Given the description of an element on the screen output the (x, y) to click on. 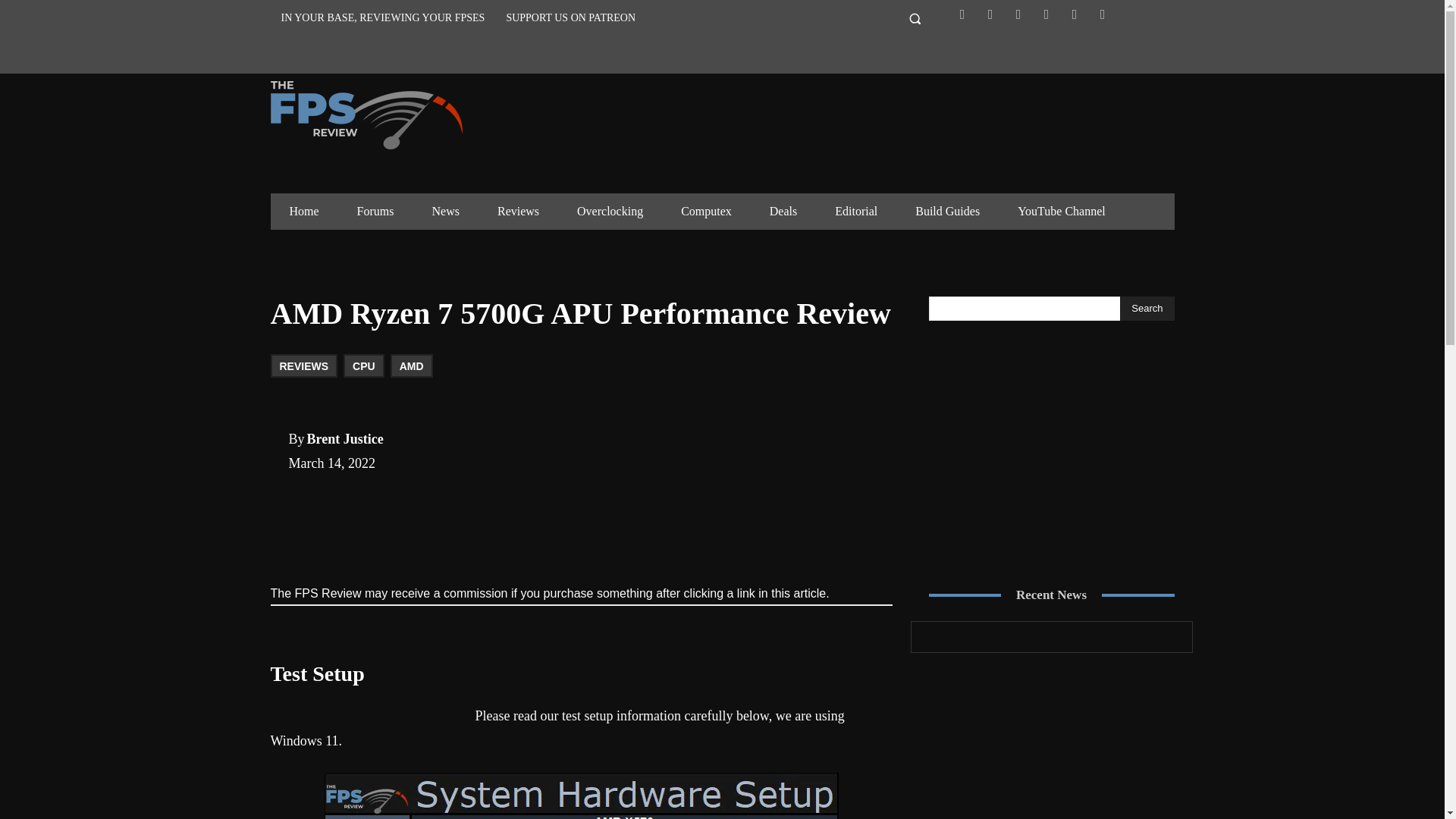
Flipboard (990, 13)
Facebook (962, 13)
Instagram (1018, 13)
